Given the description of an element on the screen output the (x, y) to click on. 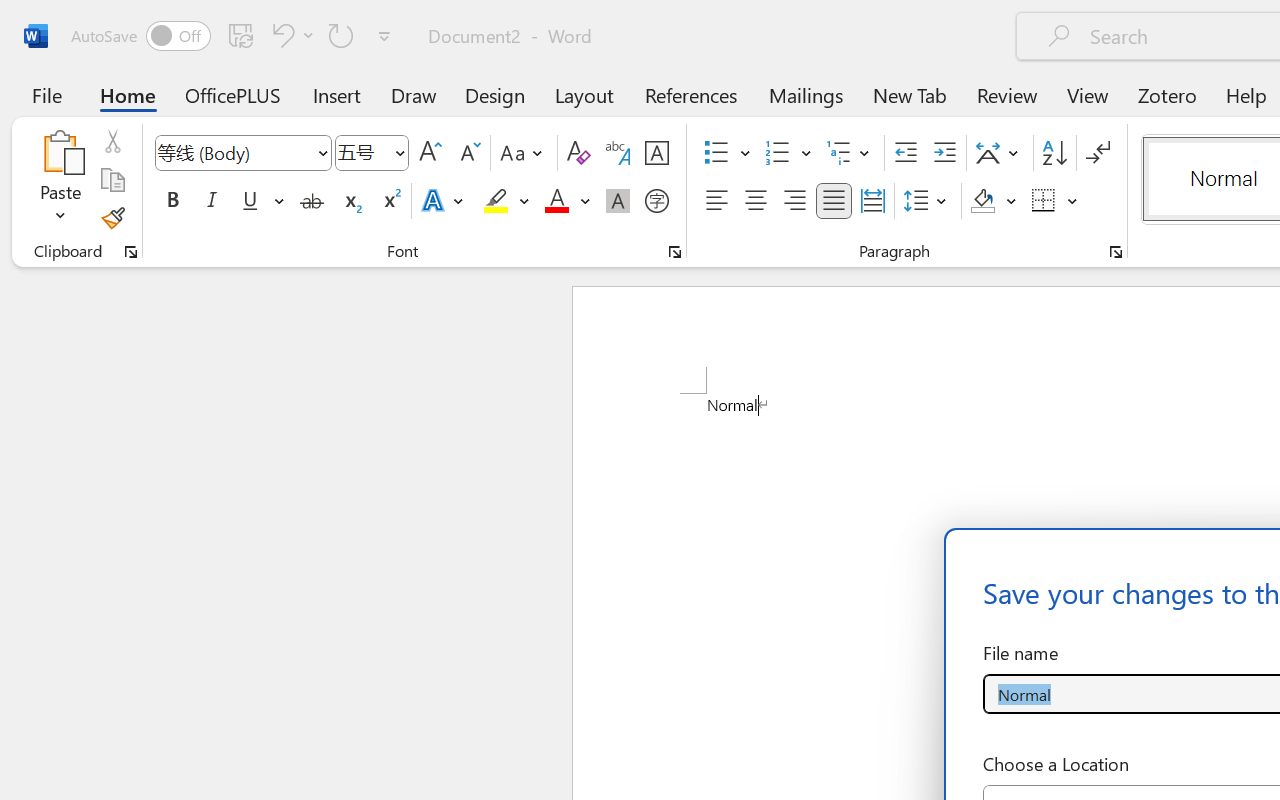
Insert (337, 94)
Phonetic Guide... (618, 153)
